Given the description of an element on the screen output the (x, y) to click on. 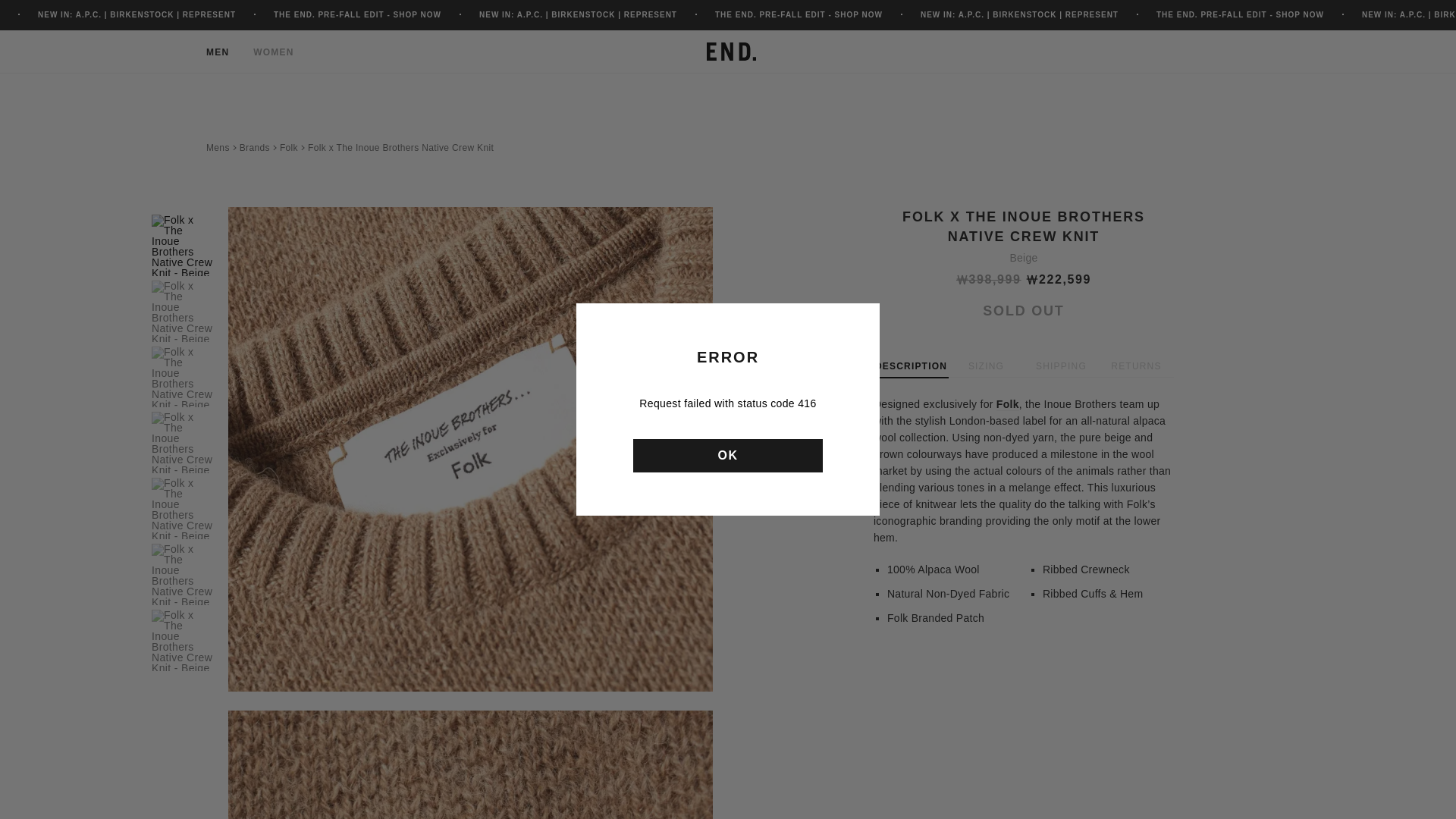
Folk (288, 147)
Mens (218, 147)
Brands (254, 147)
THE END. PRE-FALL EDIT - SHOP NOW (798, 14)
THE END. PRE-FALL EDIT - SHOP NOW (357, 14)
OK (727, 455)
THE END. PRE-FALL EDIT - SHOP NOW (1239, 14)
Folk x The Inoue Brothers Native Crew Knit (400, 147)
Folk (1007, 404)
